Given the description of an element on the screen output the (x, y) to click on. 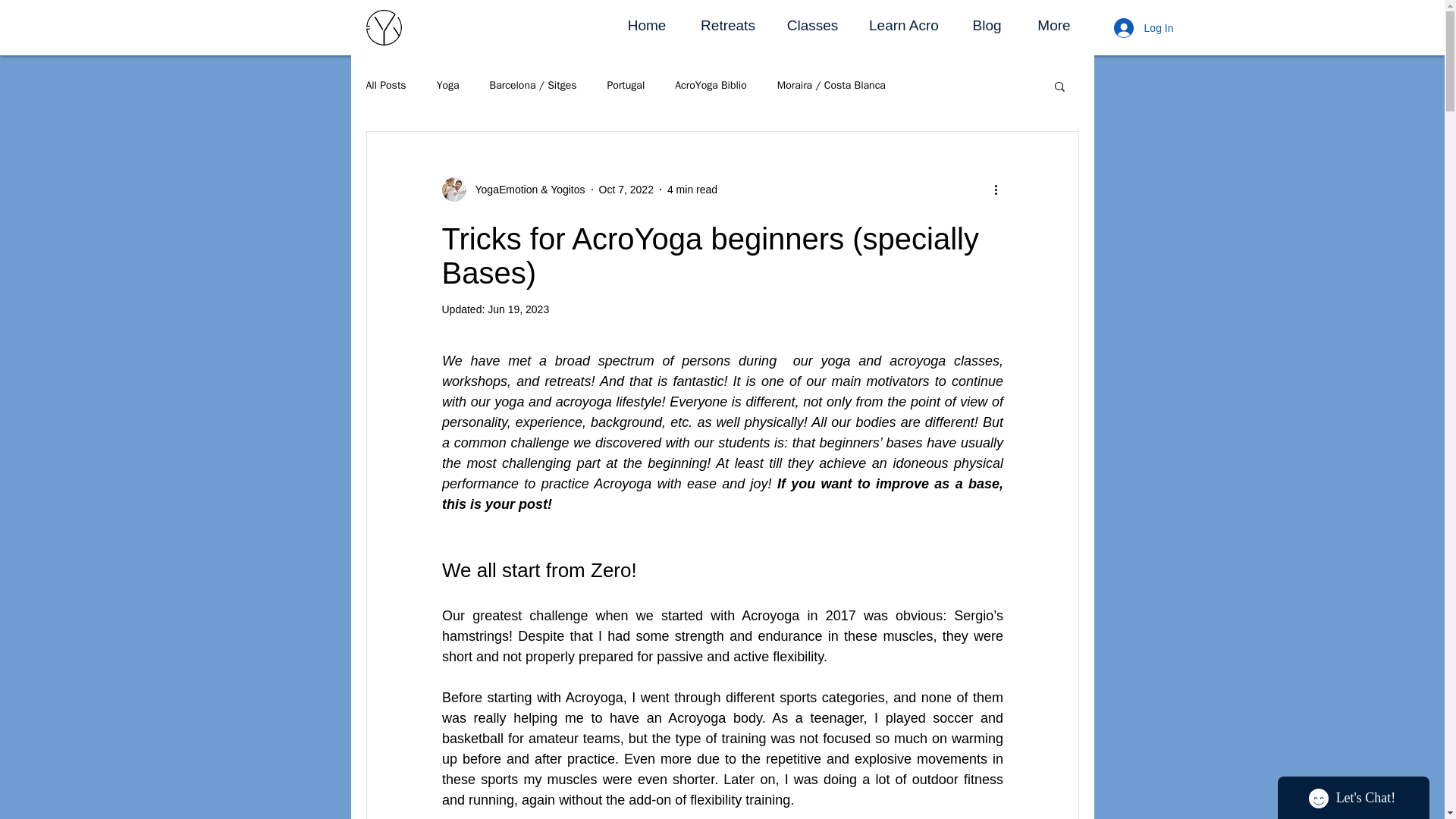
AcroYoga Biblio (710, 85)
Log In (1144, 27)
Oct 7, 2022 (625, 189)
Portugal (626, 85)
All Posts (385, 85)
4 min read (691, 189)
YogaEmotion logo (383, 27)
Jun 19, 2023 (517, 309)
Yoga (448, 85)
